Given the description of an element on the screen output the (x, y) to click on. 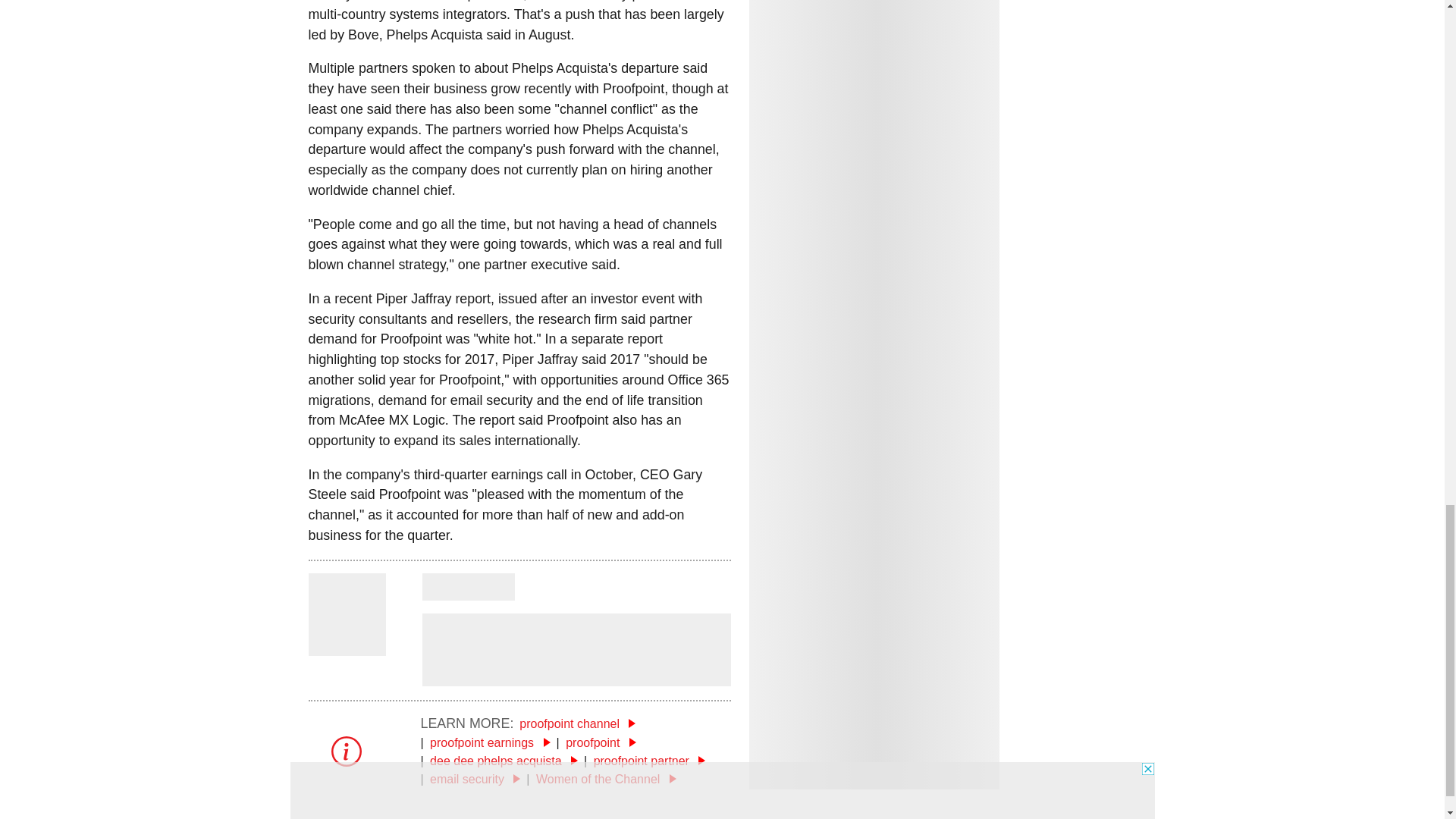
proofpoint earnings (489, 742)
proofpoint (601, 742)
proofpoint partner (650, 760)
email security (474, 779)
Author Name (346, 645)
AUTHOR NAME (467, 586)
dee dee phelps acquista (503, 760)
proofpoint channel (576, 723)
Author Name (467, 586)
Women of the Channel (606, 779)
